Given the description of an element on the screen output the (x, y) to click on. 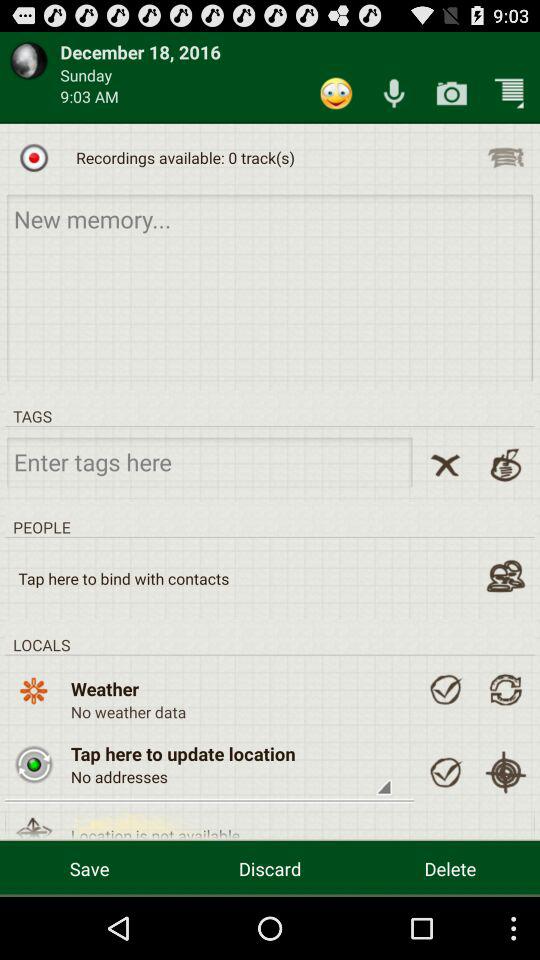
top checkmark bottom right next to weather (445, 689)
